Given the description of an element on the screen output the (x, y) to click on. 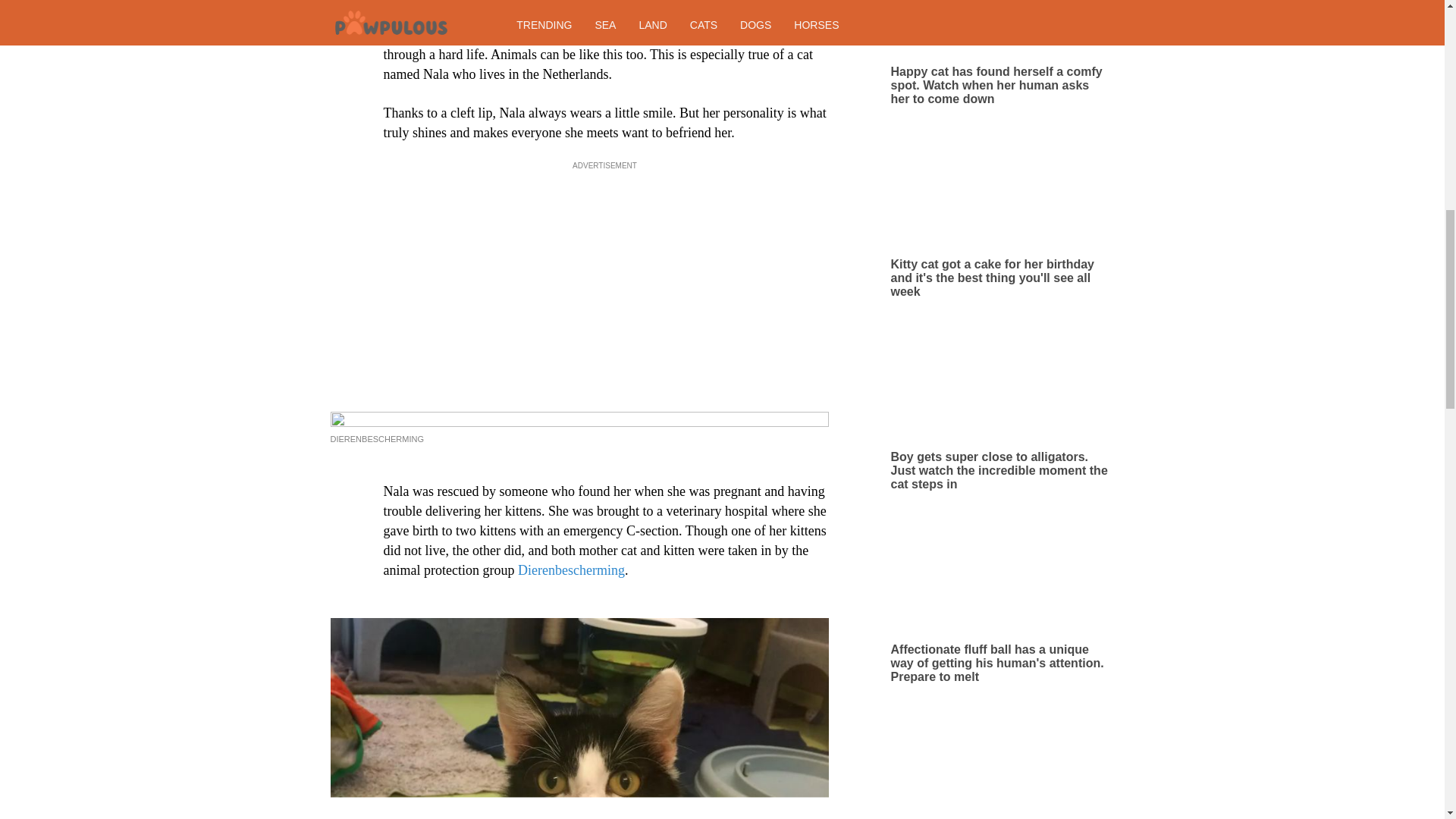
Terms of Use (700, 62)
Dierenbescherming (571, 570)
DIERENBESCHERMING (376, 438)
Do Not Sell My Info (861, 62)
About Ads (635, 62)
Privacy Policy (774, 62)
